Given the description of an element on the screen output the (x, y) to click on. 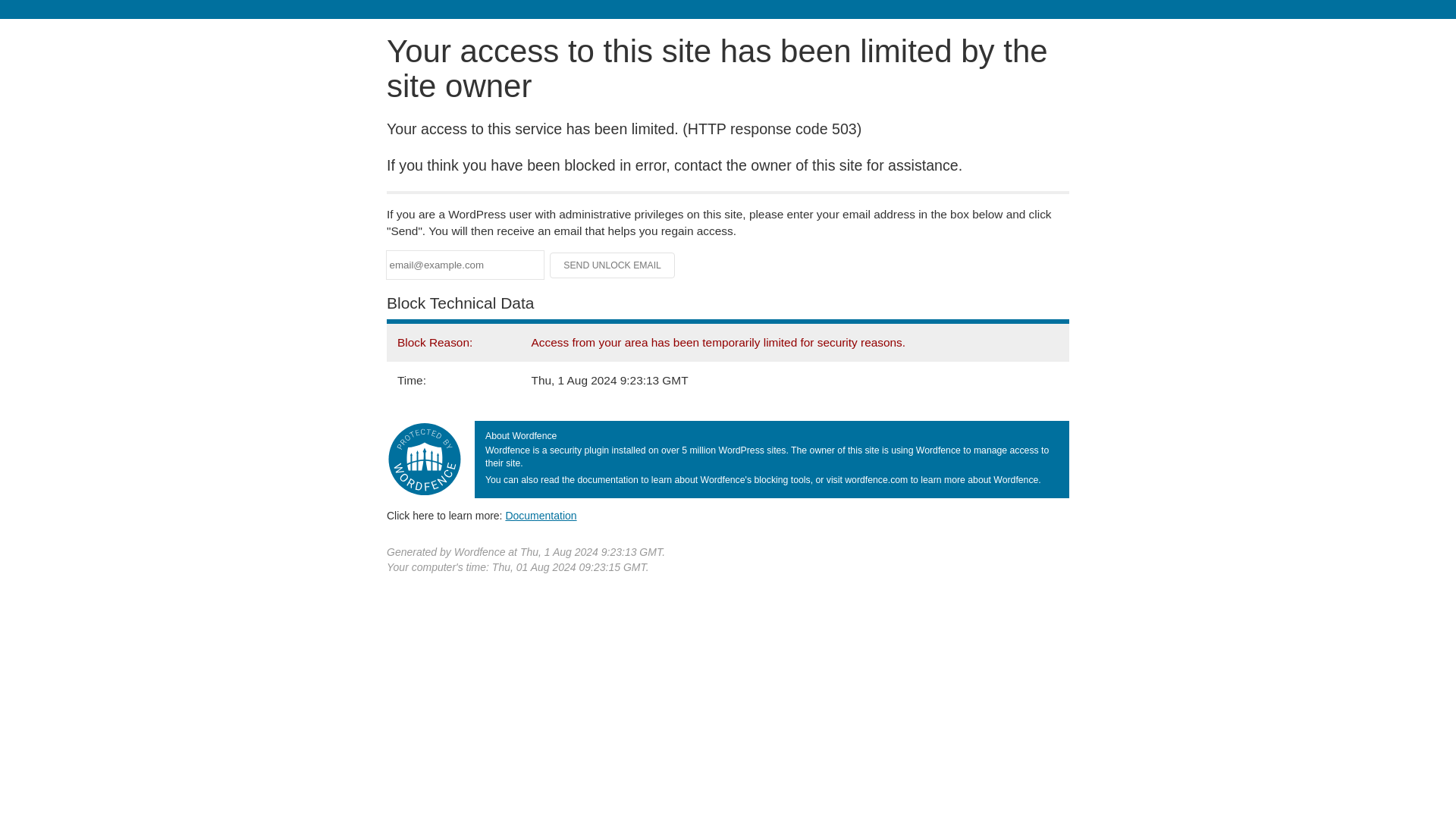
Send Unlock Email (612, 265)
Documentation (540, 515)
Send Unlock Email (612, 265)
